Given the description of an element on the screen output the (x, y) to click on. 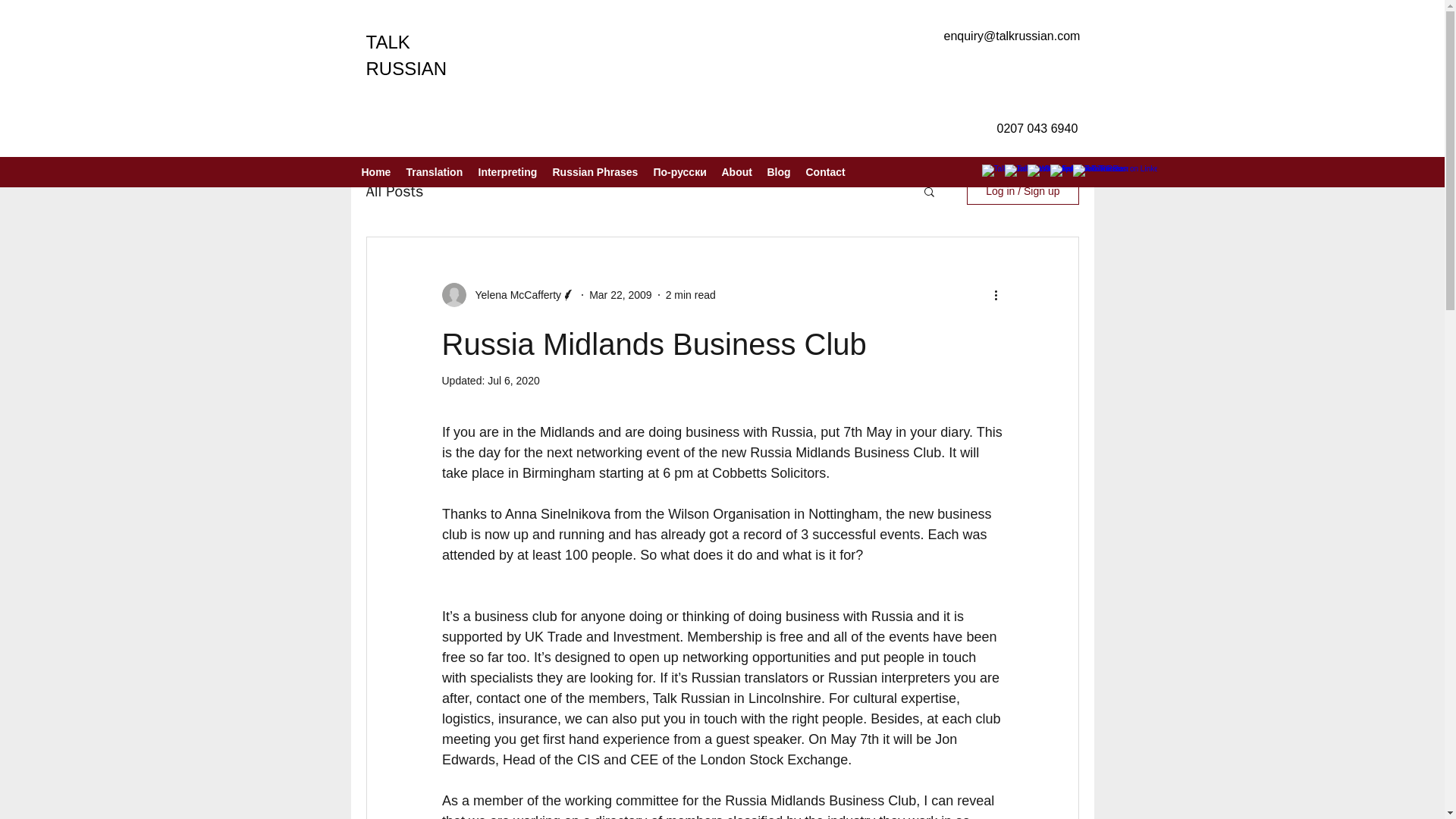
Home (375, 171)
Mar 22, 2009 (620, 294)
Russian Phrases (594, 171)
Contact (824, 171)
Interpreting (507, 171)
All Posts (394, 190)
2 min read (690, 294)
Translation (434, 171)
Jul 6, 2020 (513, 380)
About (737, 171)
